Given the description of an element on the screen output the (x, y) to click on. 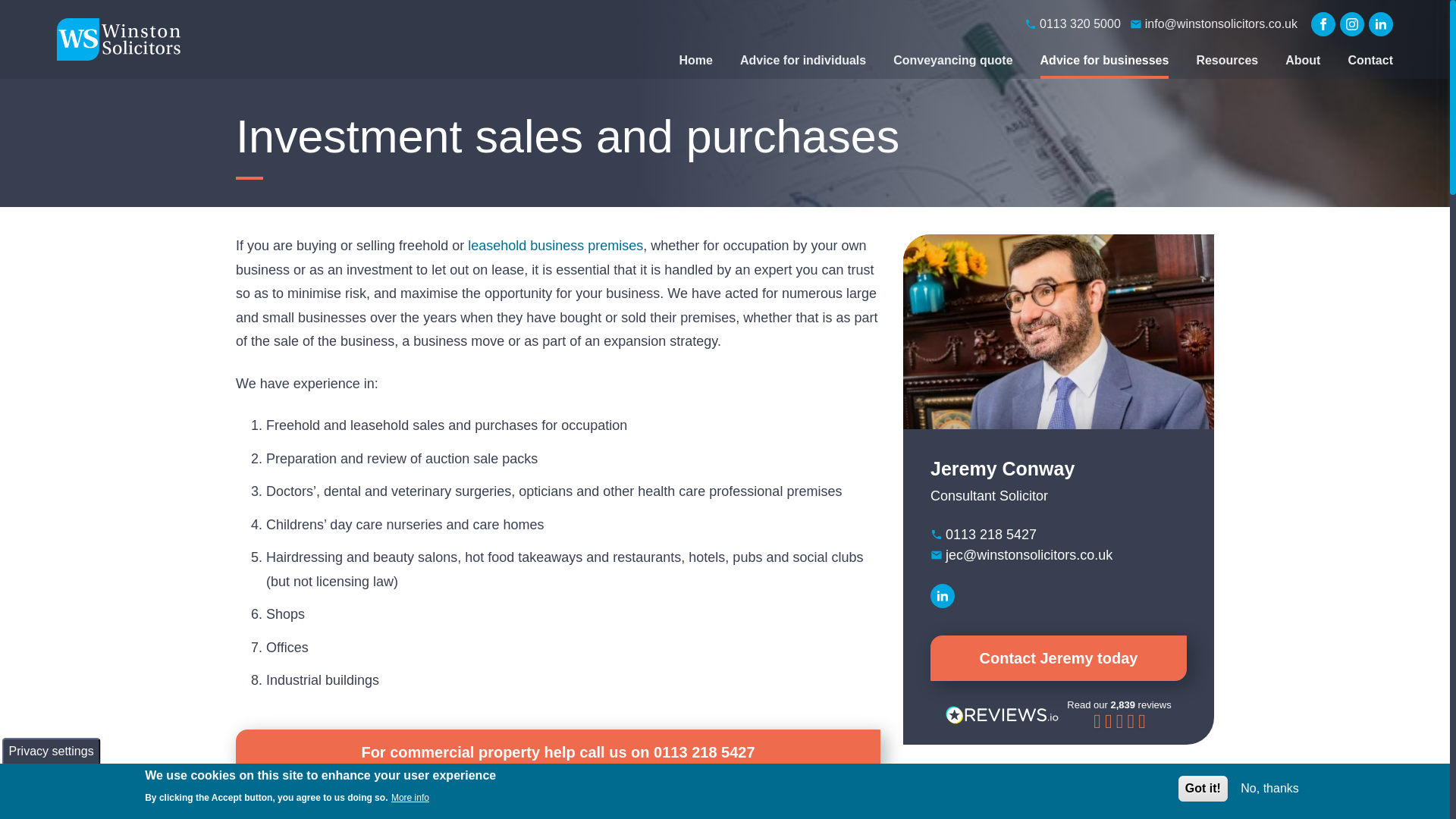
Business leases and investment properties (555, 245)
Home (694, 60)
Contact Jeremy today (1058, 657)
Home (119, 39)
